Given the description of an element on the screen output the (x, y) to click on. 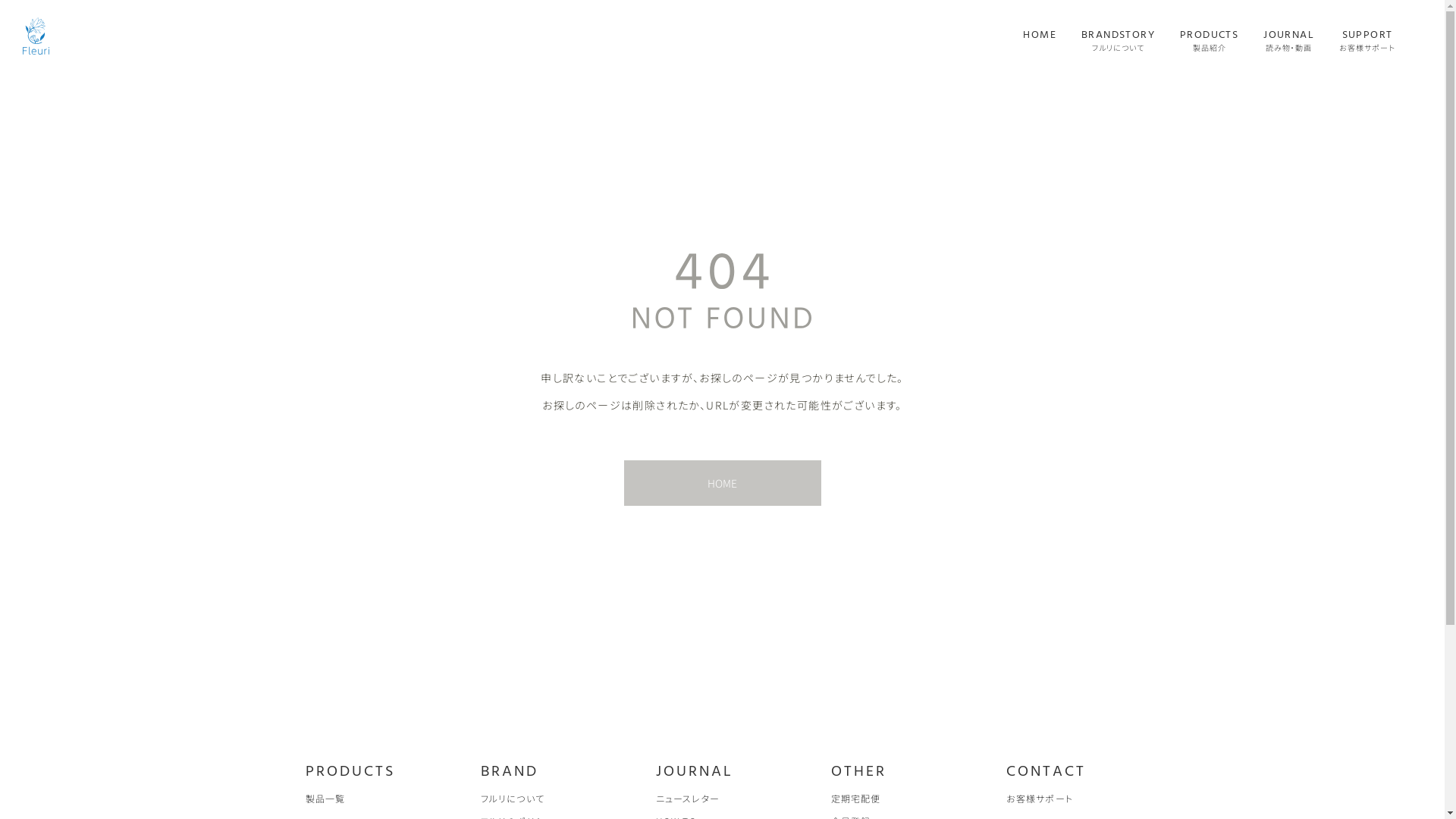
CONTACT Element type: text (1045, 771)
OTHER Element type: text (858, 771)
  Element type: text (1039, 47)
HOME Element type: text (721, 482)
PRODUCTS Element type: text (349, 771)
BRAND Element type: text (509, 771)
JOURNAL Element type: text (693, 771)
HOME Element type: text (1039, 40)
